Given the description of an element on the screen output the (x, y) to click on. 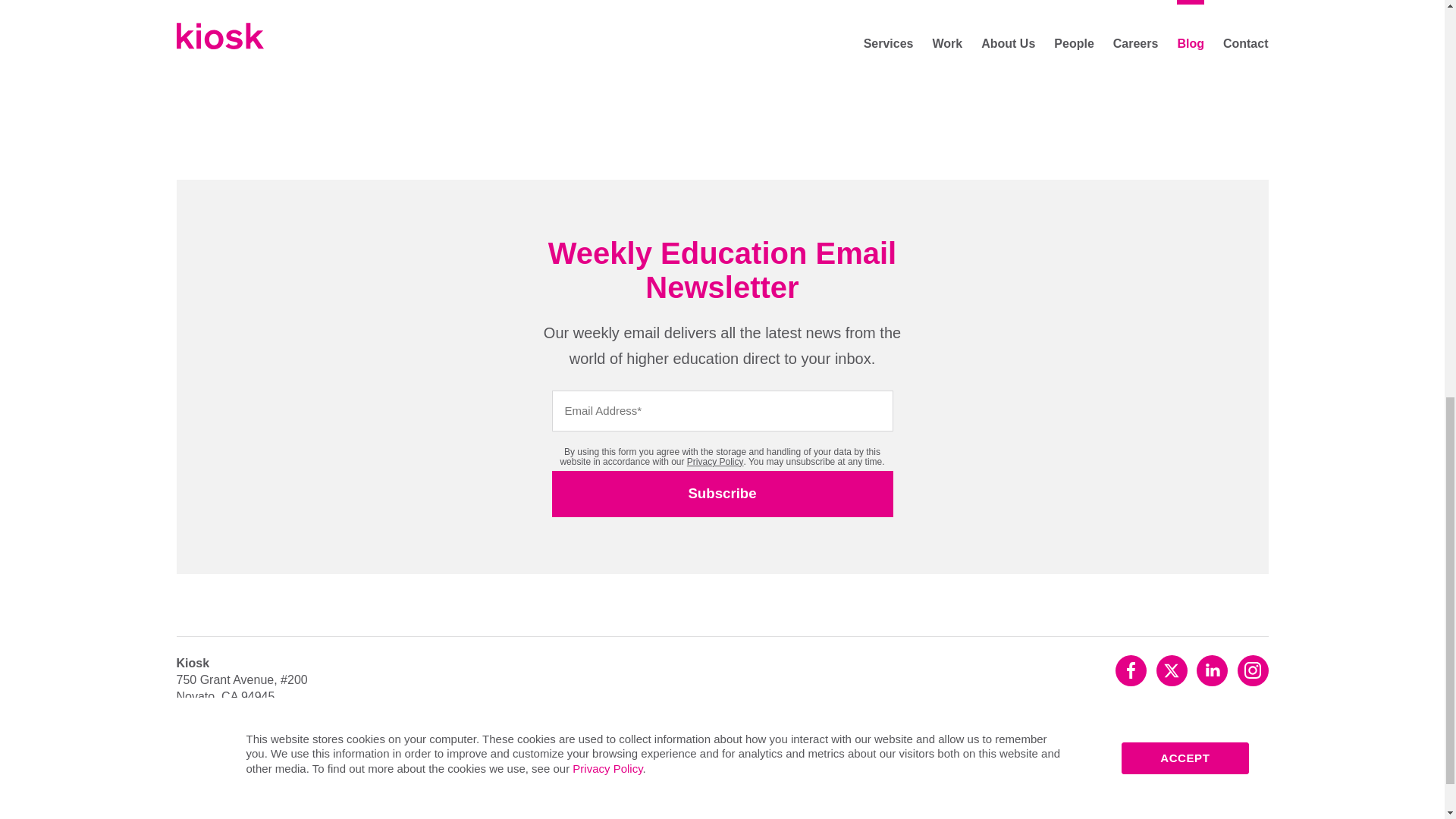
Subscribe (722, 493)
Community (306, 780)
View the full article from The Hechinger Report. (501, 2)
Subscribe (722, 493)
Privacy Policy (715, 461)
Back to All Education Posts (443, 57)
Privacy Policy (217, 780)
